Given the description of an element on the screen output the (x, y) to click on. 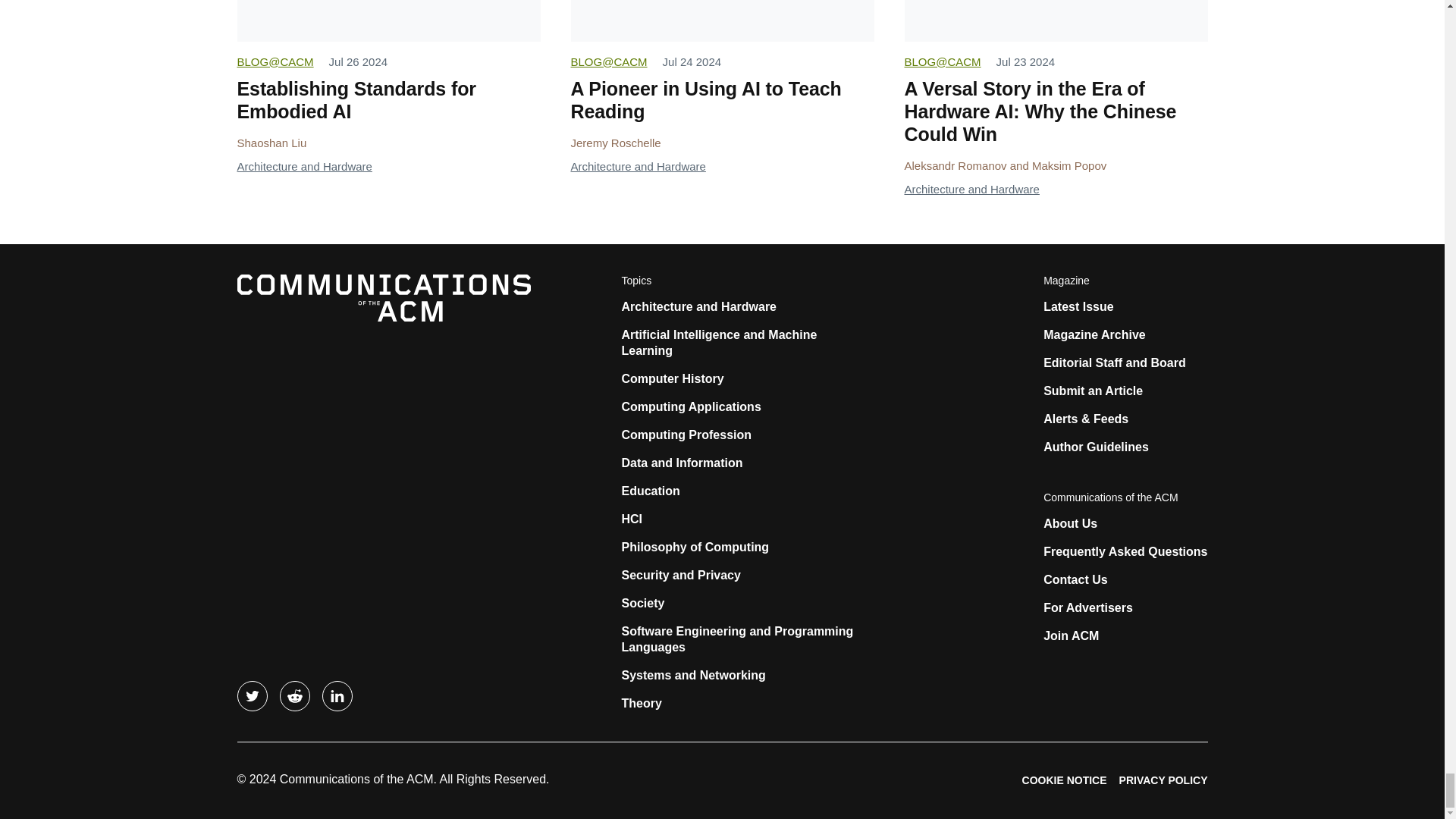
Posts by Aleksandr Romanov (955, 164)
Posts by Shaoshan Liu (270, 142)
Posts by Jeremy Roschelle (615, 142)
